Given the description of an element on the screen output the (x, y) to click on. 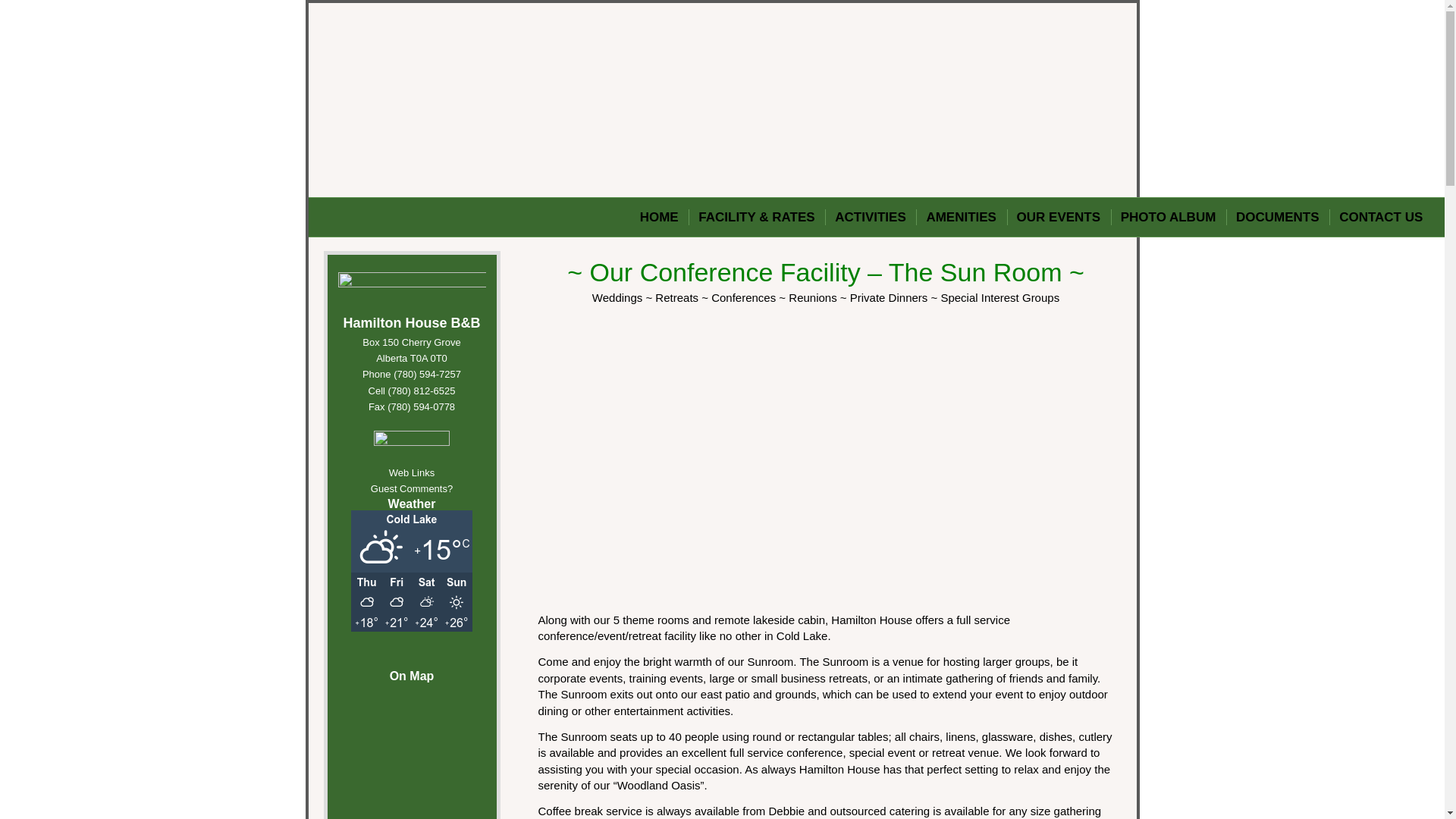
HOME (657, 217)
Web Links (410, 472)
Guest Comments? (411, 488)
